Given the description of an element on the screen output the (x, y) to click on. 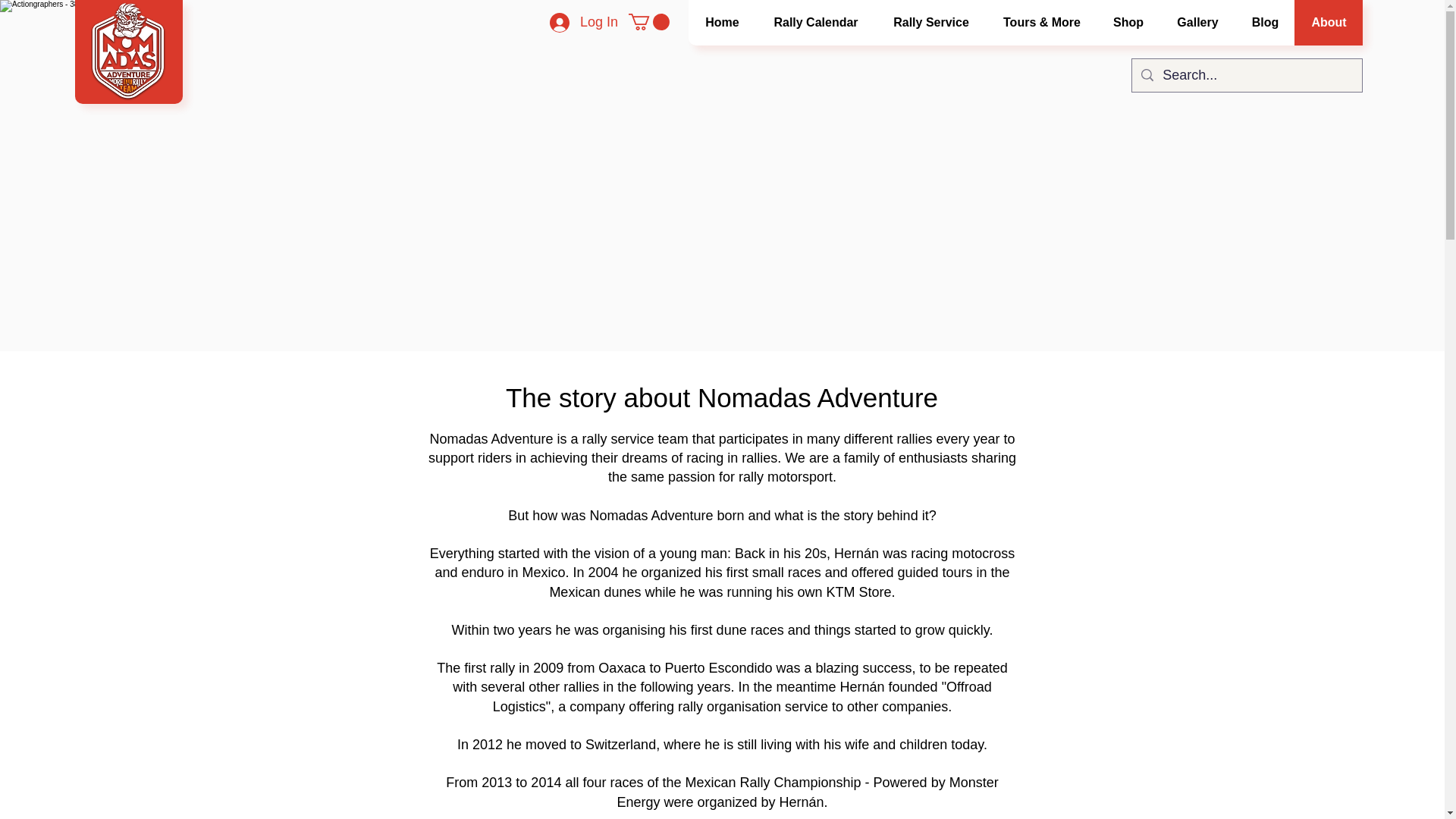
Gallery (1196, 22)
Home (721, 22)
About (1328, 22)
Blog (1264, 22)
Shop (1127, 22)
Rally Calendar (815, 22)
Log In (583, 22)
